Given the description of an element on the screen output the (x, y) to click on. 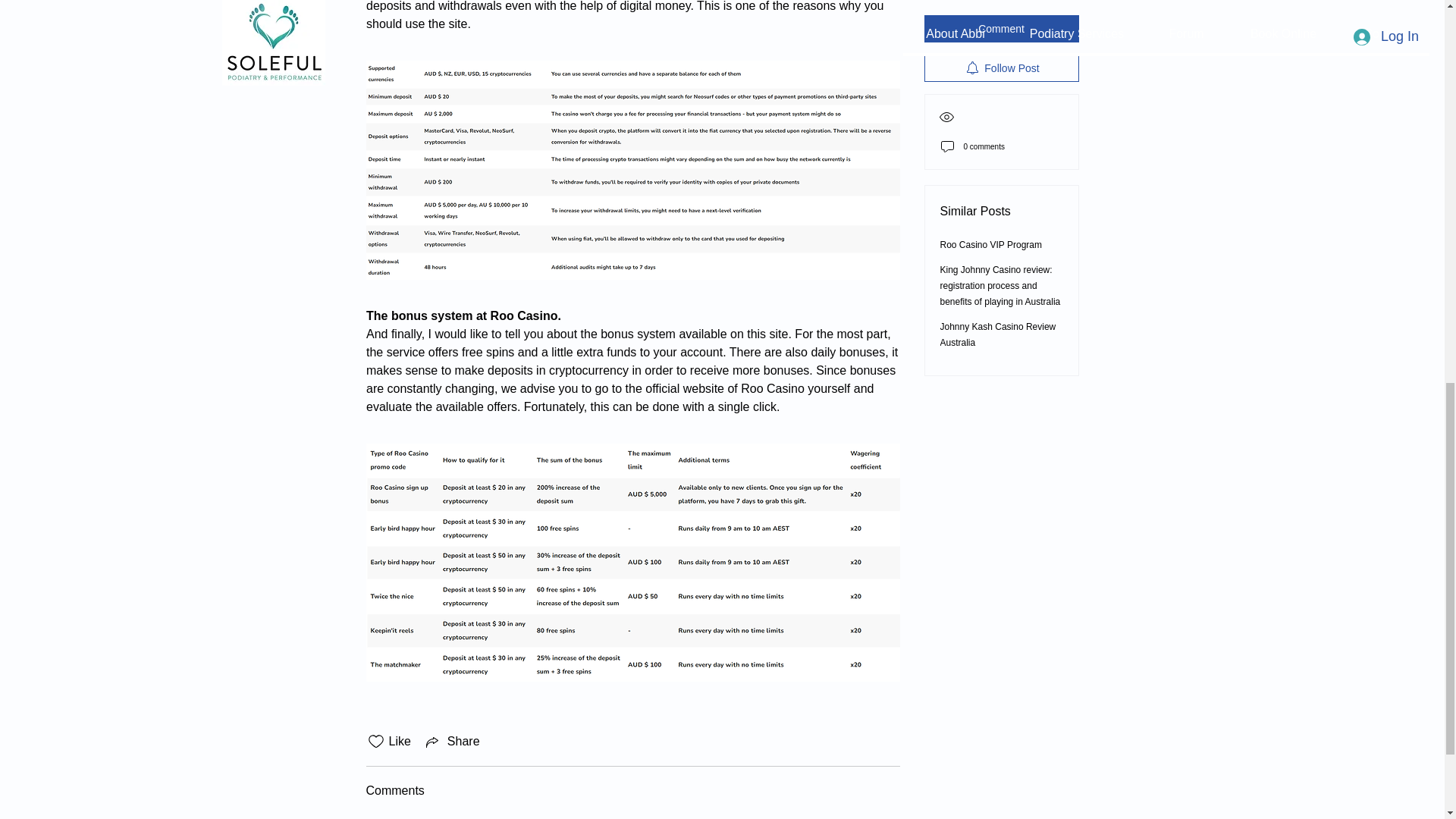
Share (451, 741)
